Given the description of an element on the screen output the (x, y) to click on. 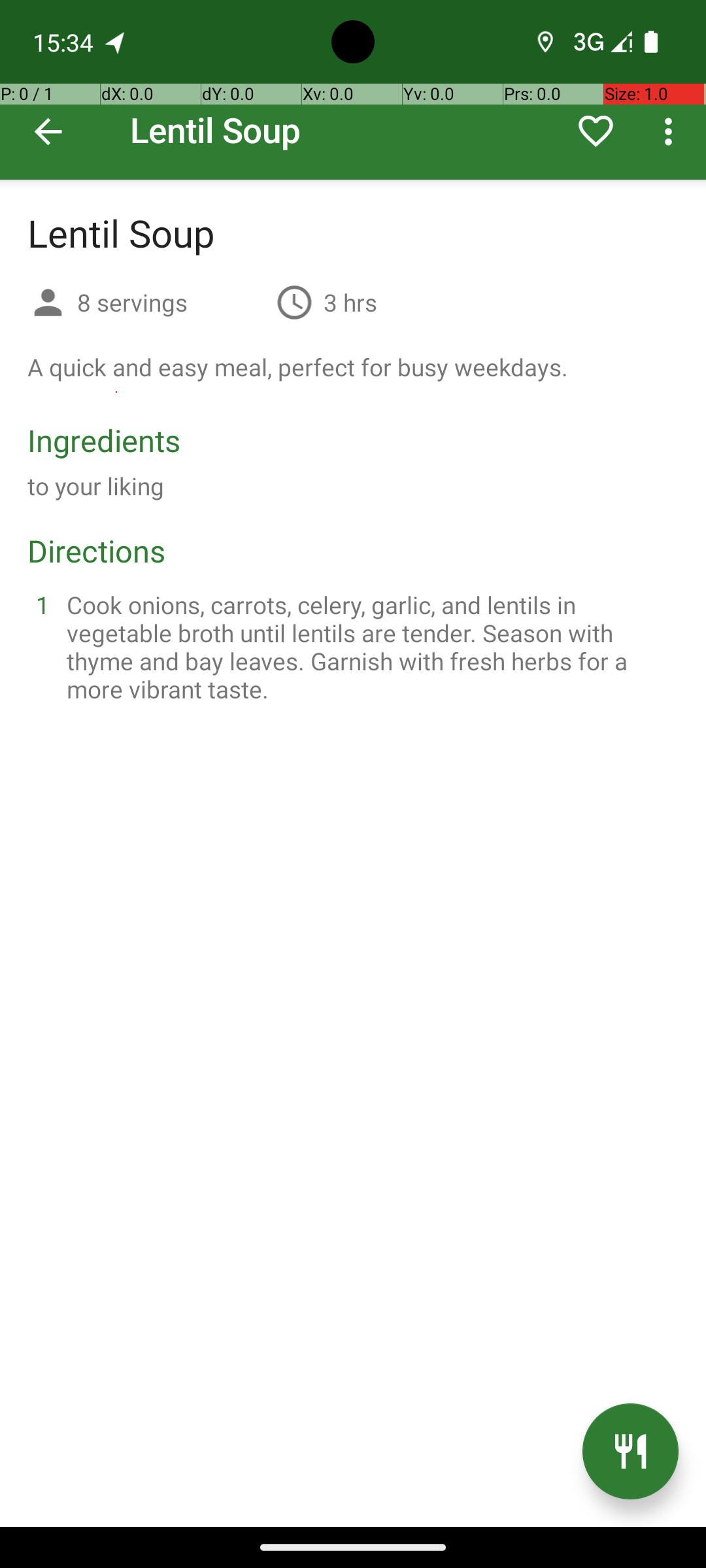
to your liking Element type: android.widget.TextView (95, 485)
Cook onions, carrots, celery, garlic, and lentils in vegetable broth until lentils are tender. Season with thyme and bay leaves. Garnish with fresh herbs for a more vibrant taste. Element type: android.widget.TextView (368, 646)
